Given the description of an element on the screen output the (x, y) to click on. 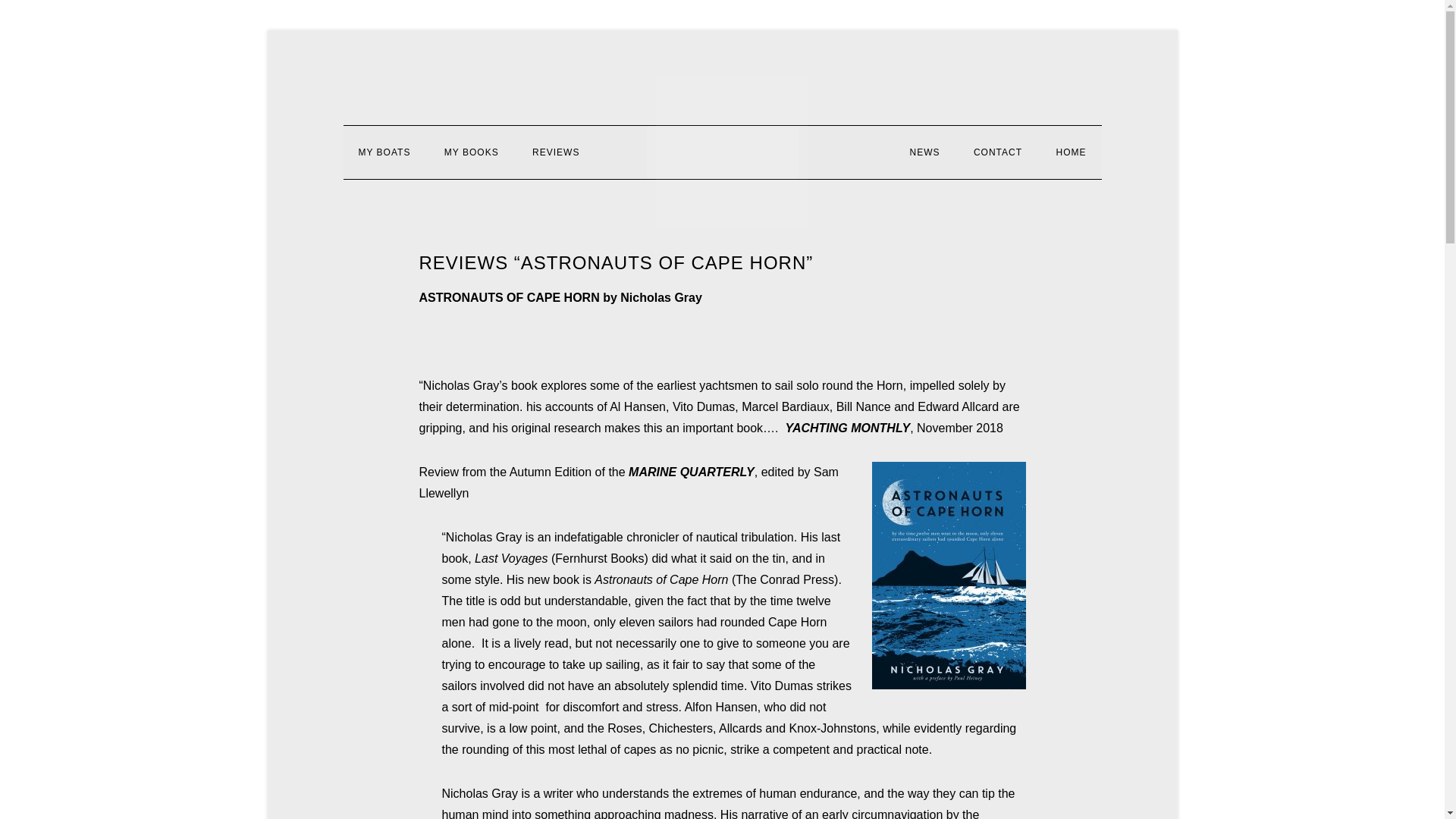
MY BOATS (383, 152)
HOME (1070, 152)
NICHOLAS GRAY (732, 151)
REVIEWS (555, 152)
CONTACT (997, 152)
MY BOOKS (471, 152)
NEWS (924, 152)
